Given the description of an element on the screen output the (x, y) to click on. 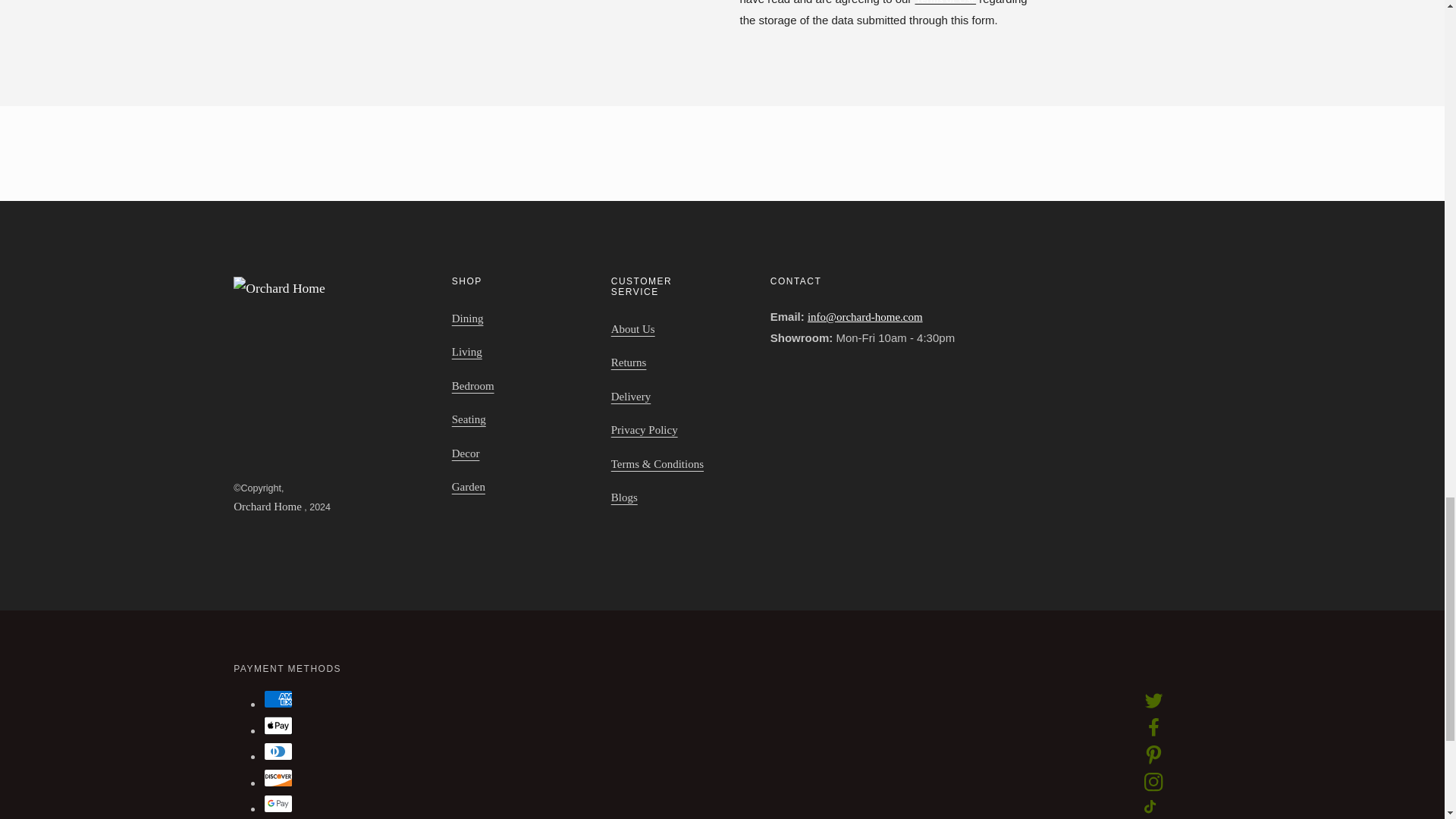
Google Pay (277, 803)
All products (944, 2)
Diners Club (277, 751)
Apple Pay (277, 725)
American Express (277, 699)
Discover (277, 778)
